Given the description of an element on the screen output the (x, y) to click on. 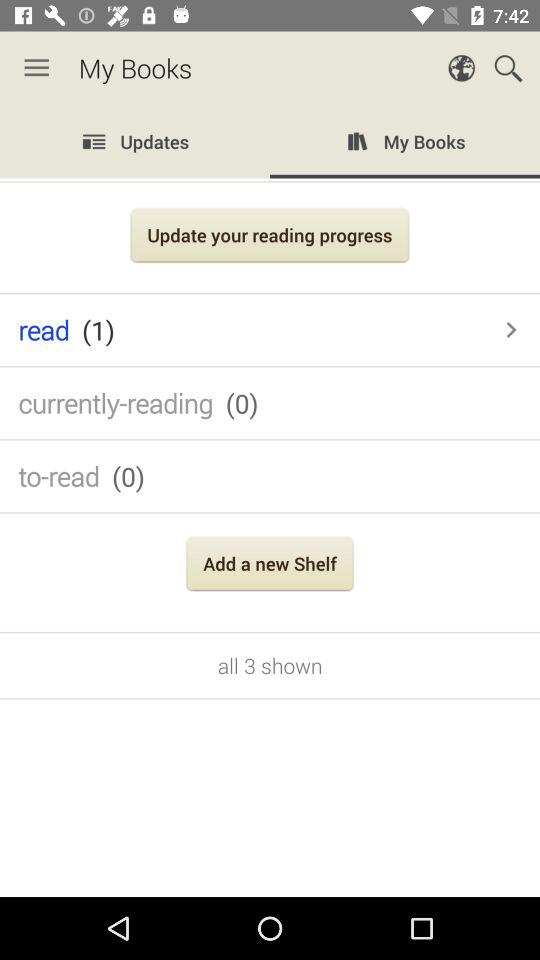
open the icon below update your reading (250, 329)
